Given the description of an element on the screen output the (x, y) to click on. 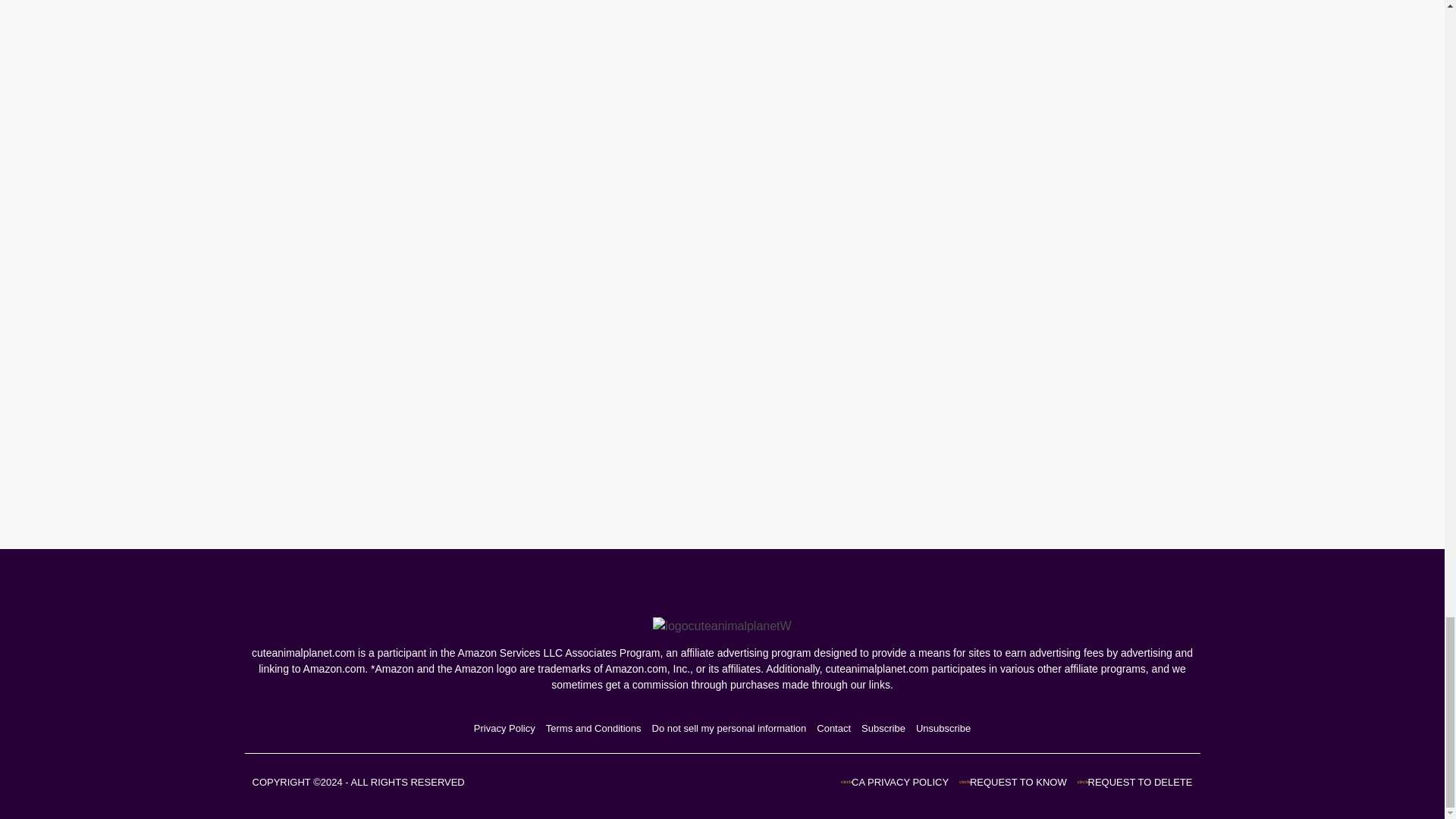
logocuteanimalplanetW (721, 626)
